Given the description of an element on the screen output the (x, y) to click on. 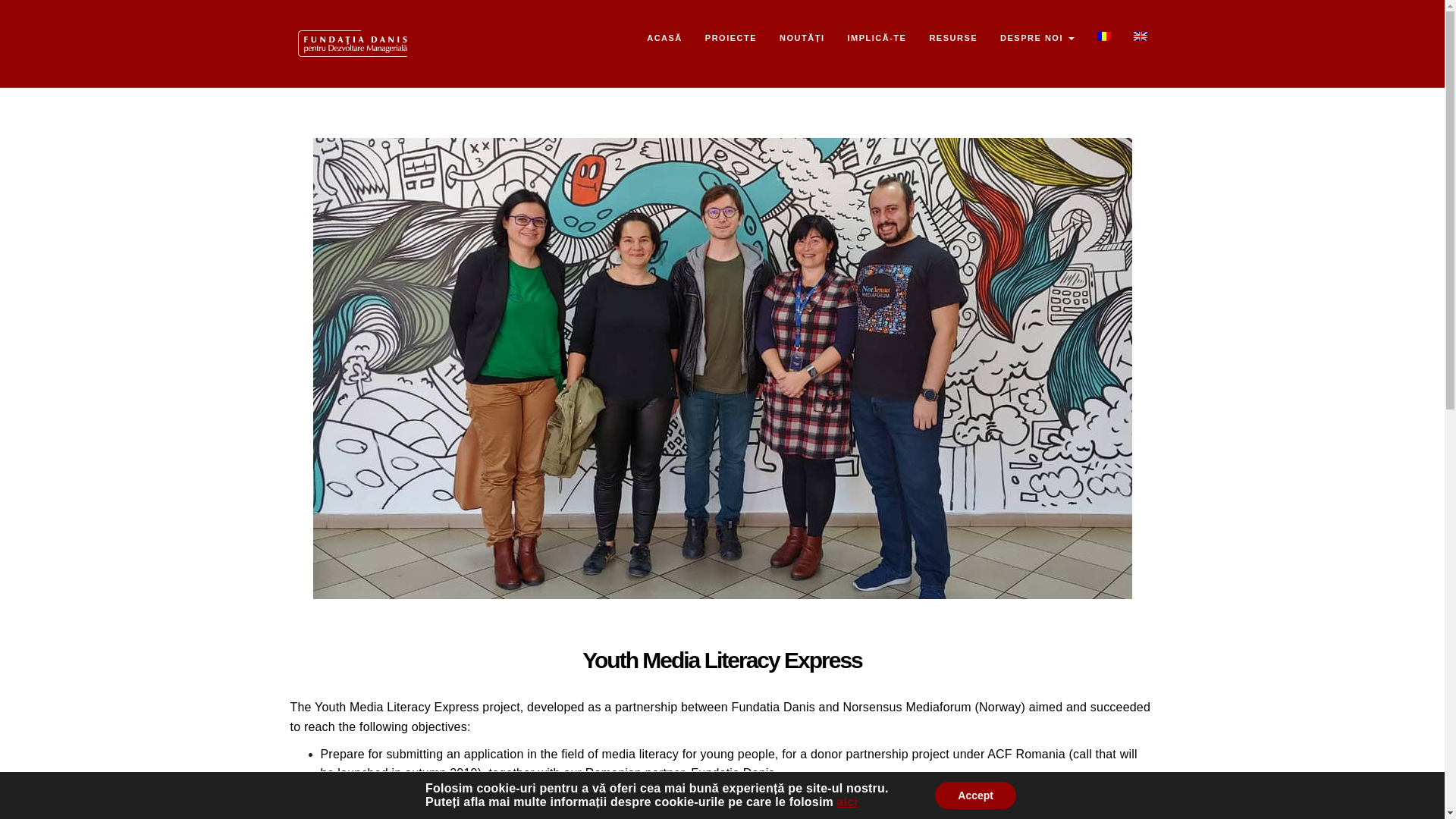
Despre noi (1036, 37)
aici (848, 801)
Norsensus Mediaforum (907, 707)
Proiecte (731, 37)
PROIECTE (731, 37)
English (1139, 35)
RESURSE (952, 37)
DESPRE NOI (1036, 37)
Resurse (952, 37)
Accept (975, 795)
